Given the description of an element on the screen output the (x, y) to click on. 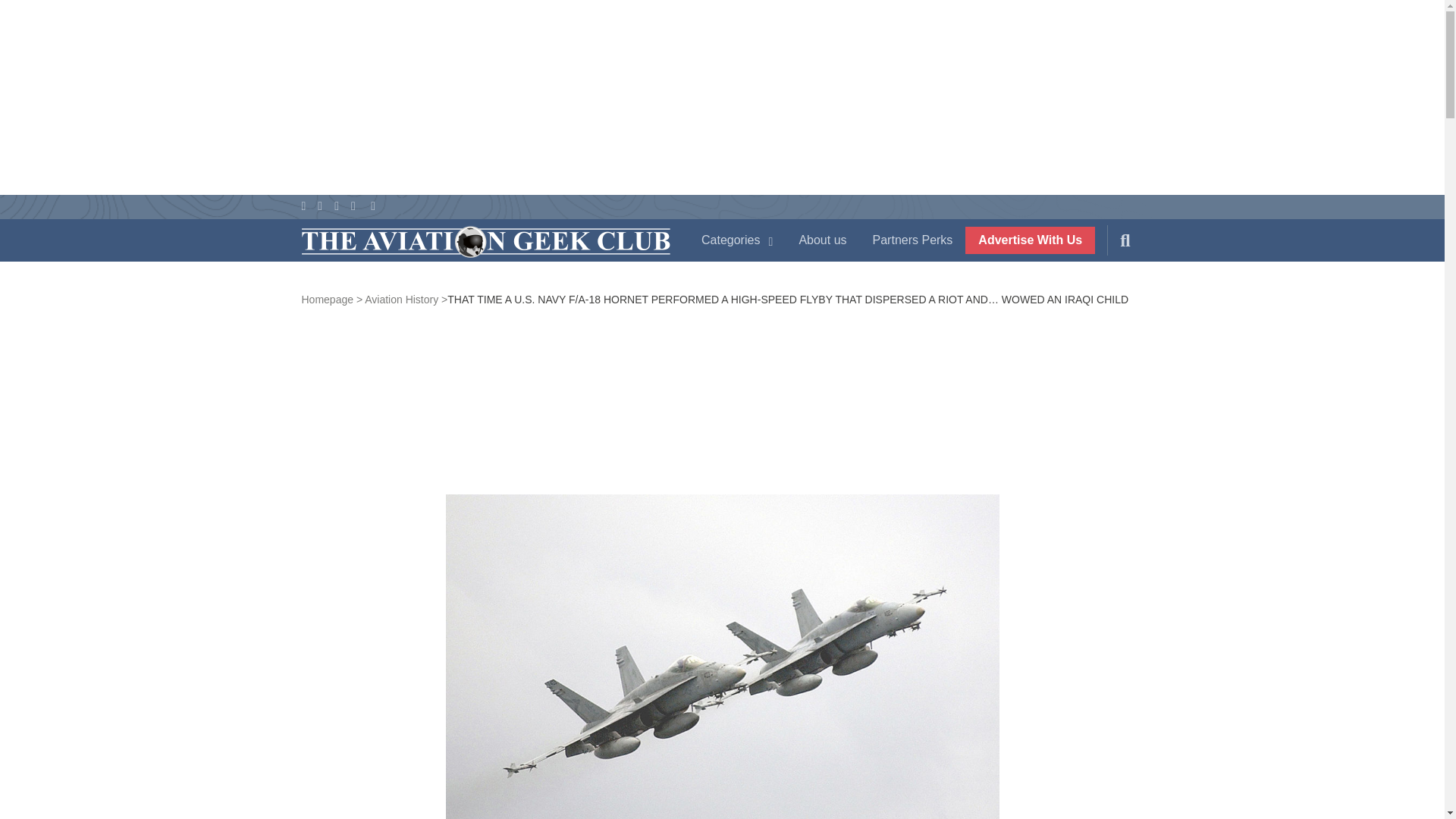
Advertise With Us (1029, 239)
About us (822, 239)
Facebook (303, 205)
RSS 2.0 Feed (373, 205)
Back to Home (485, 242)
Back to homepage (331, 299)
Instagram (352, 205)
Categories (737, 239)
Partners Perks (913, 239)
Youtube (336, 205)
Twitter (319, 205)
